Given the description of an element on the screen output the (x, y) to click on. 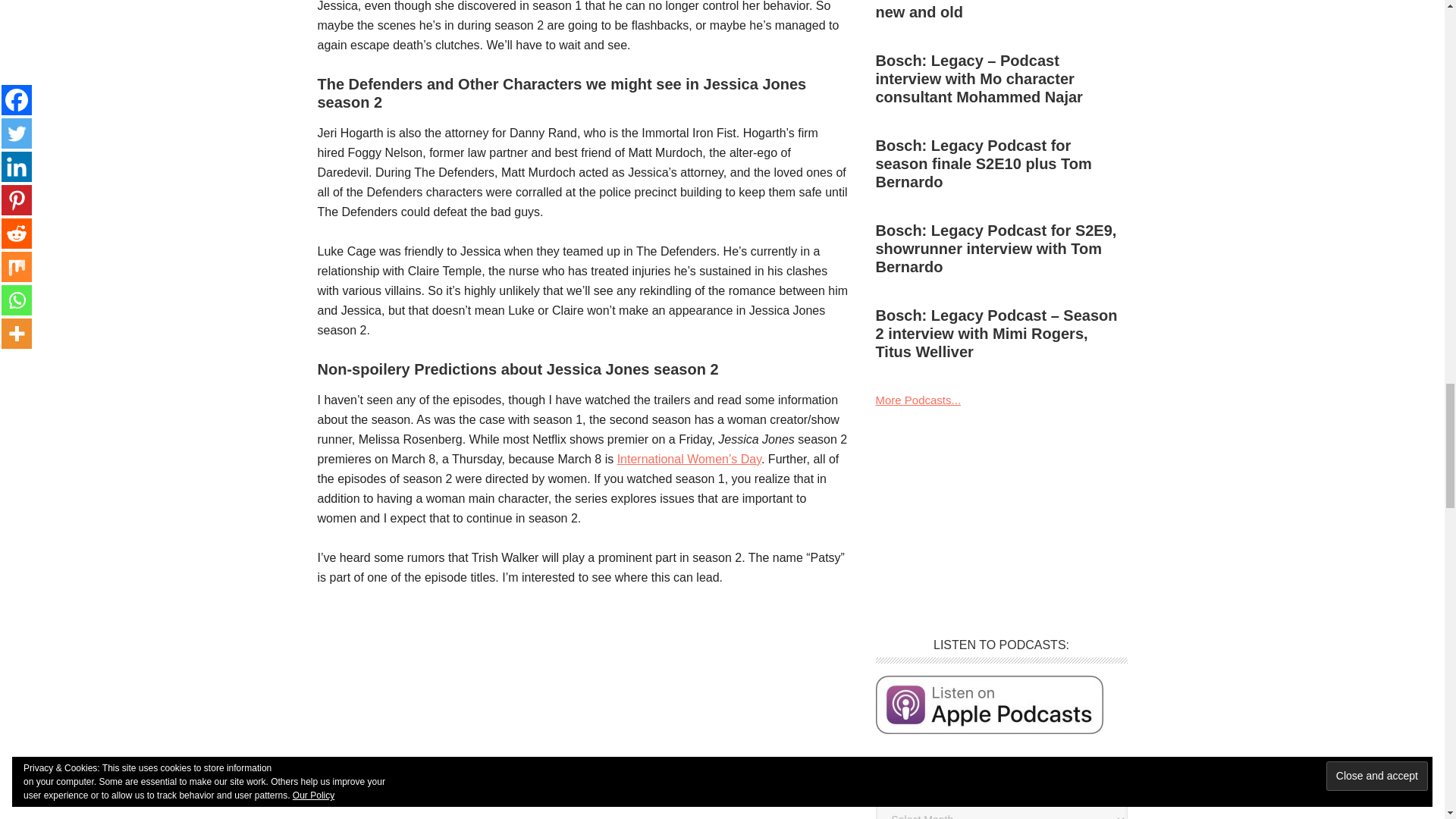
Advertisement (582, 713)
